Given the description of an element on the screen output the (x, y) to click on. 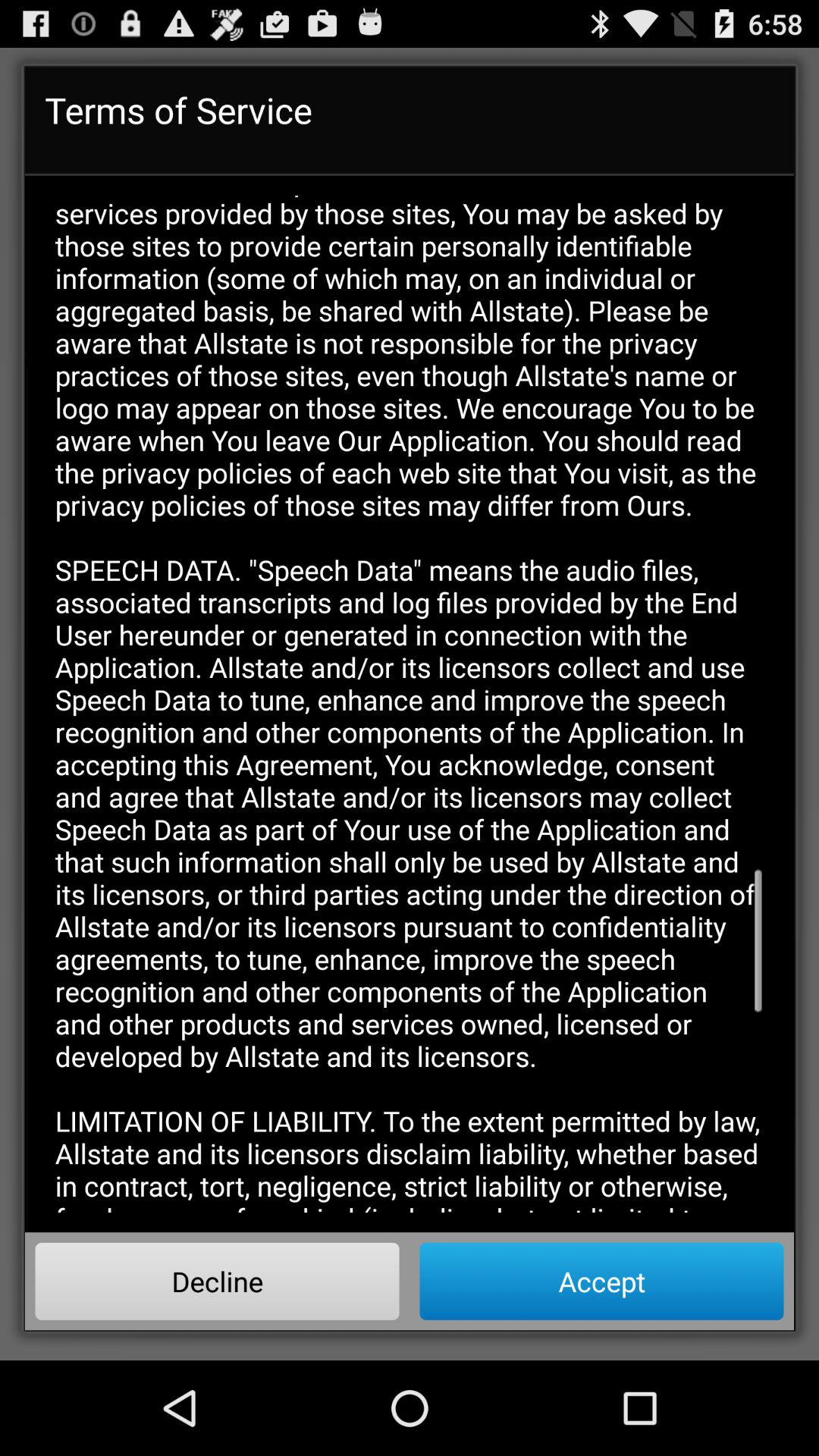
tap the item at the bottom left corner (217, 1281)
